Given the description of an element on the screen output the (x, y) to click on. 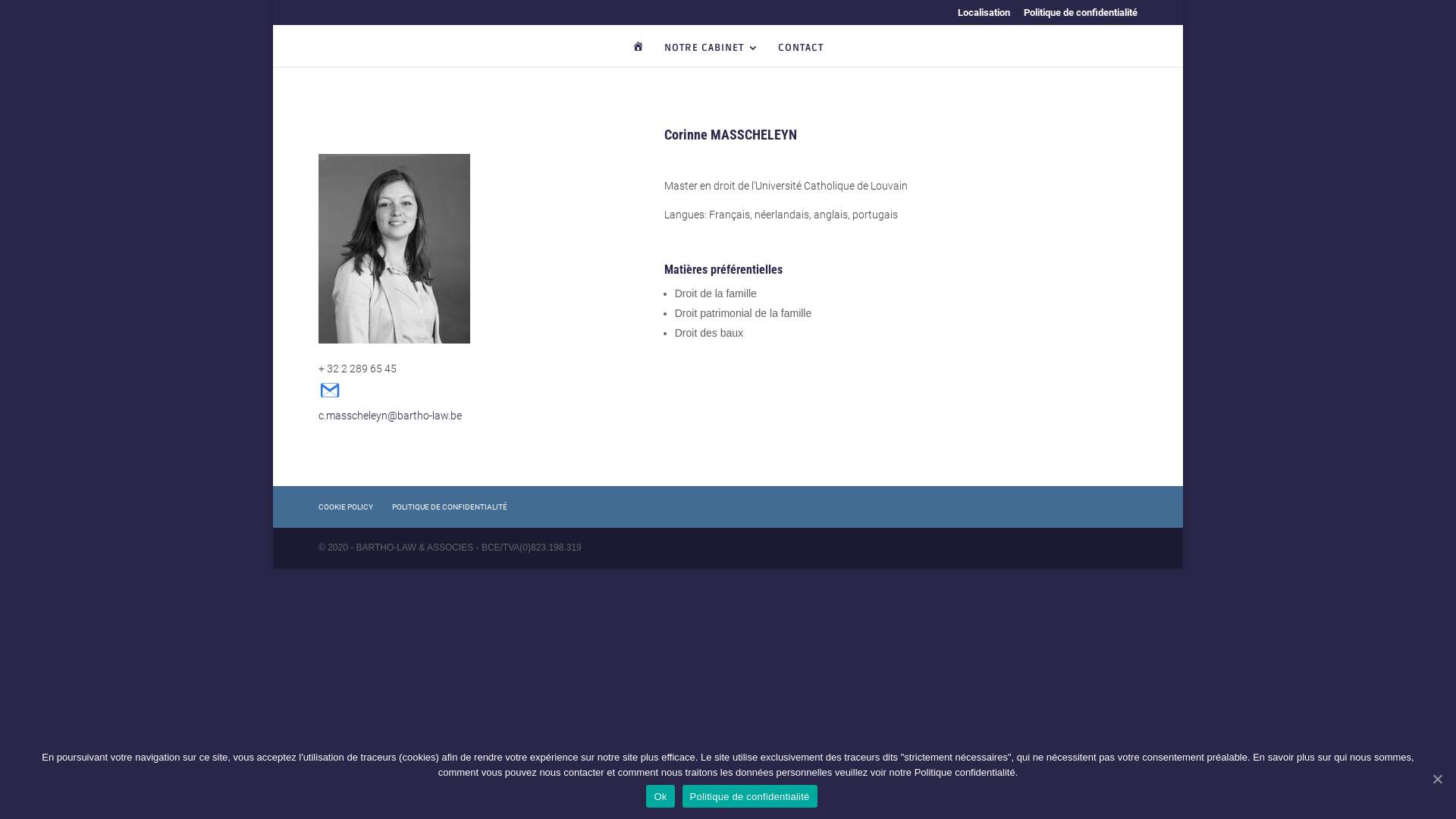
Ok Element type: text (660, 795)
COOKIE POLICY Element type: text (345, 506)
CONTACT Element type: text (800, 54)
NOTRE CABINET Element type: text (711, 54)
HOME LOGO Element type: text (638, 54)
c.masscheleyn@bartho-law.be Element type: text (389, 406)
Localisation Element type: text (983, 16)
